Given the description of an element on the screen output the (x, y) to click on. 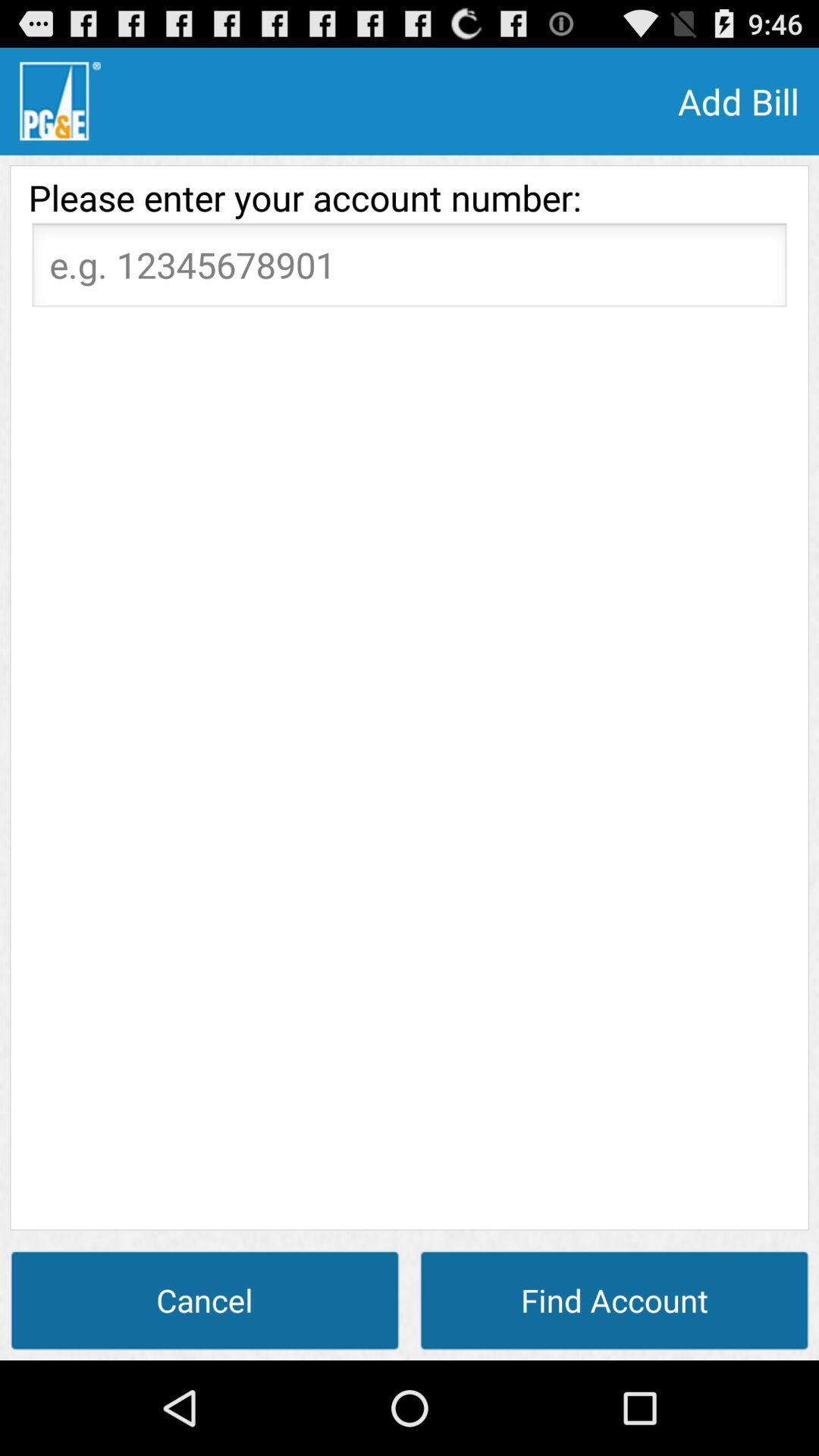
tap find account at the bottom right corner (613, 1300)
